Given the description of an element on the screen output the (x, y) to click on. 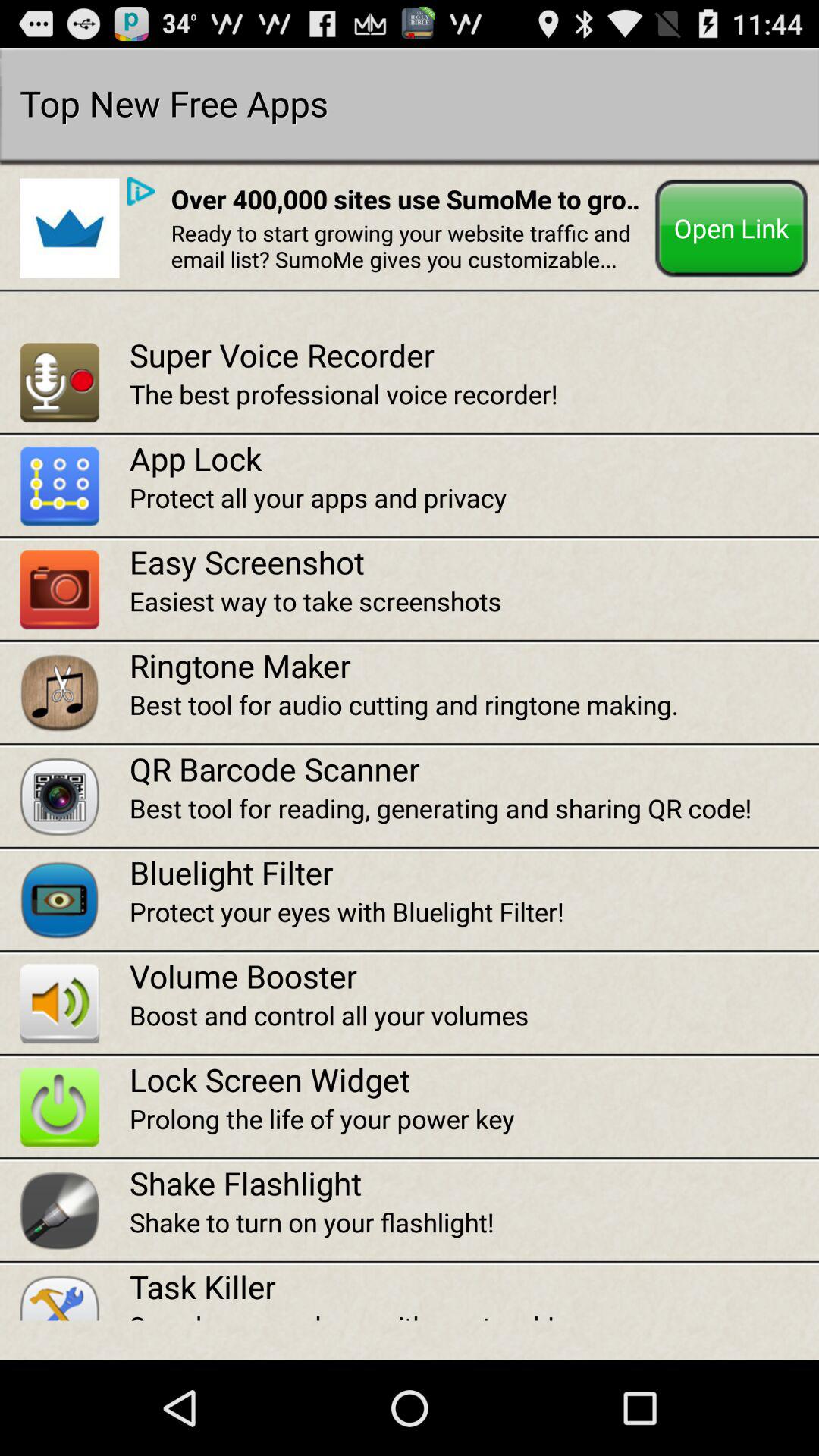
swipe to easy screenshot icon (474, 561)
